Given the description of an element on the screen output the (x, y) to click on. 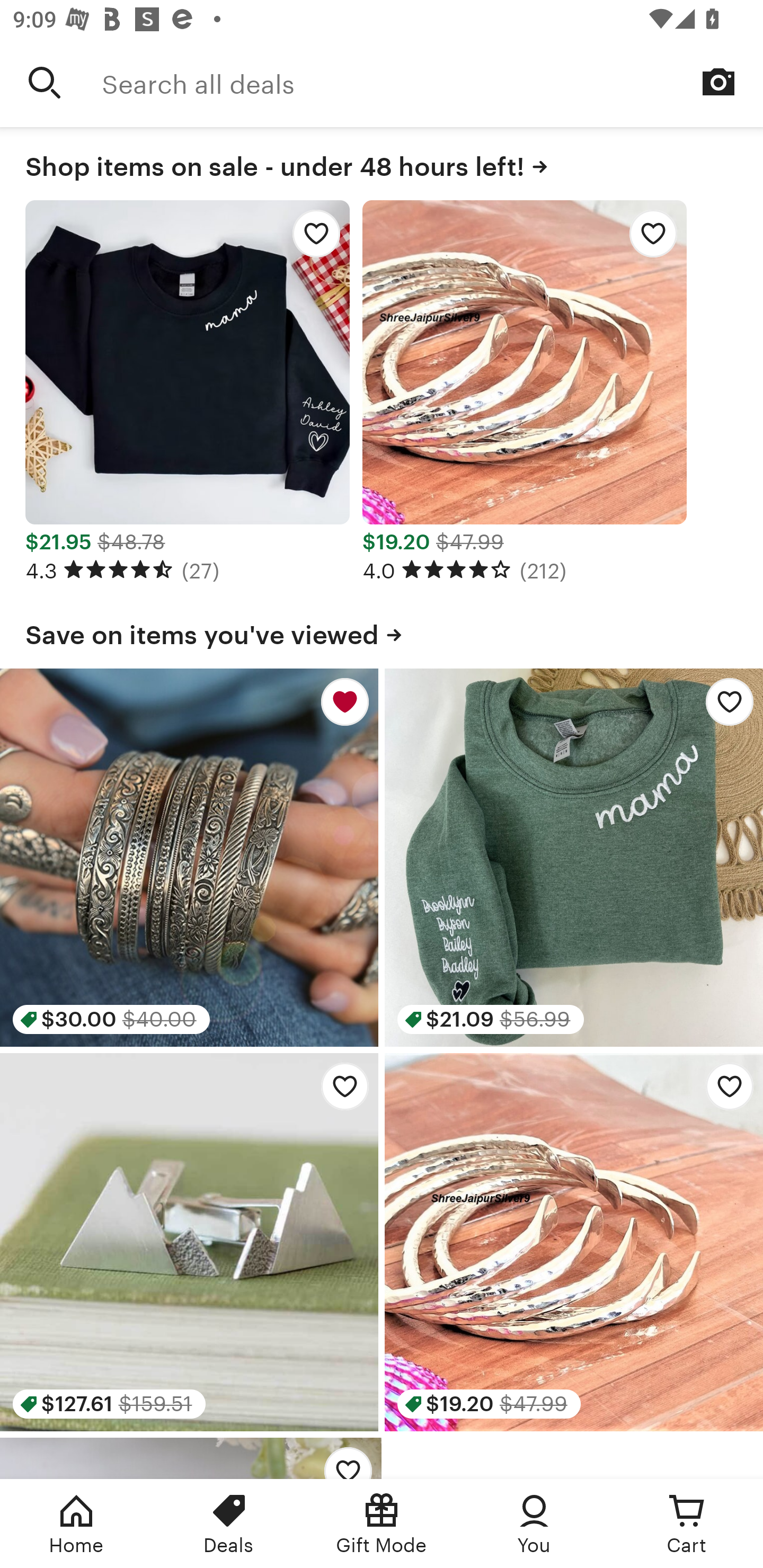
Search for anything on Etsy (44, 82)
Search by image (718, 81)
Search all deals (432, 82)
Shop items on sale - under 48 hours left! (381, 163)
Save on items you've viewed (381, 631)
Home (76, 1523)
Gift Mode (381, 1523)
You (533, 1523)
Cart (686, 1523)
